Given the description of an element on the screen output the (x, y) to click on. 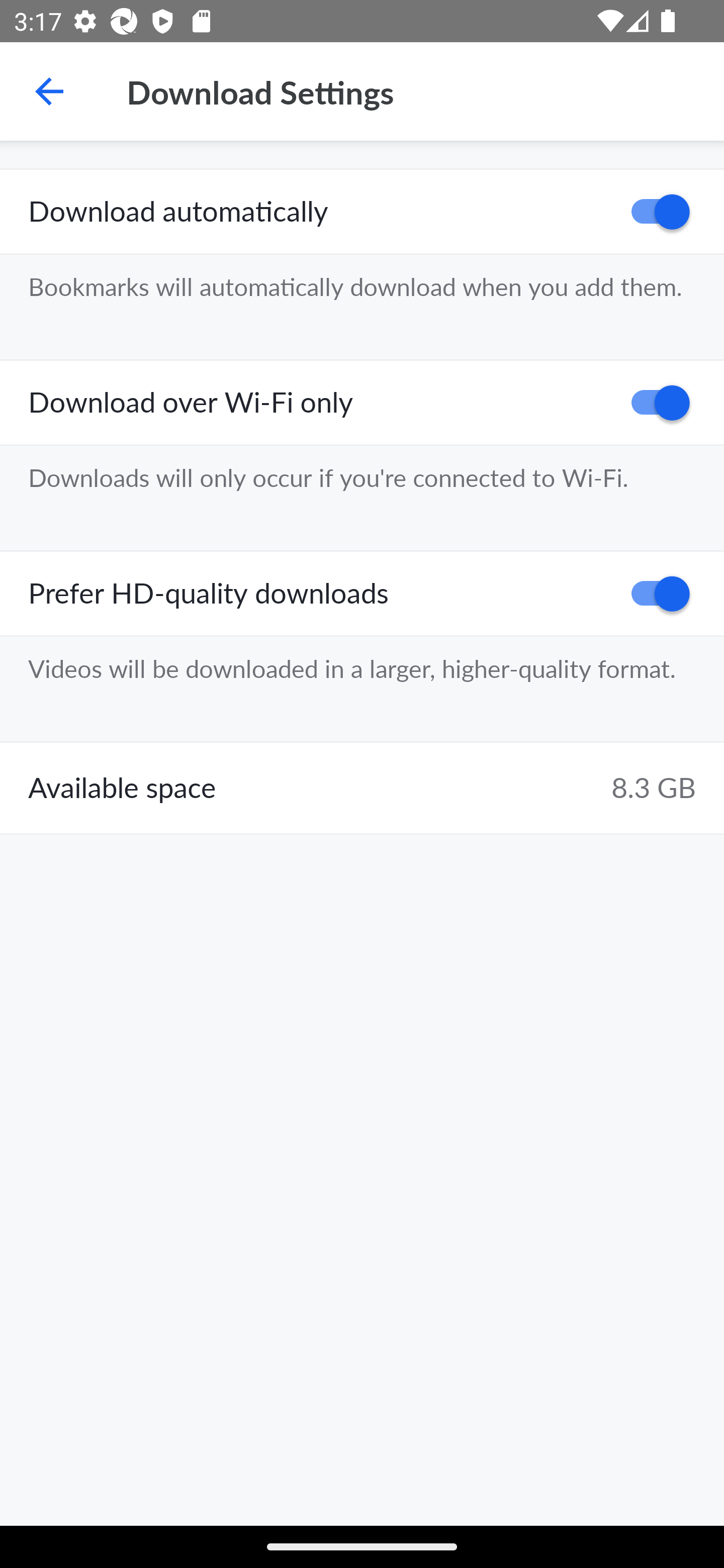
Navigate up (49, 91)
ON (653, 211)
ON (653, 402)
ON (653, 593)
